Given the description of an element on the screen output the (x, y) to click on. 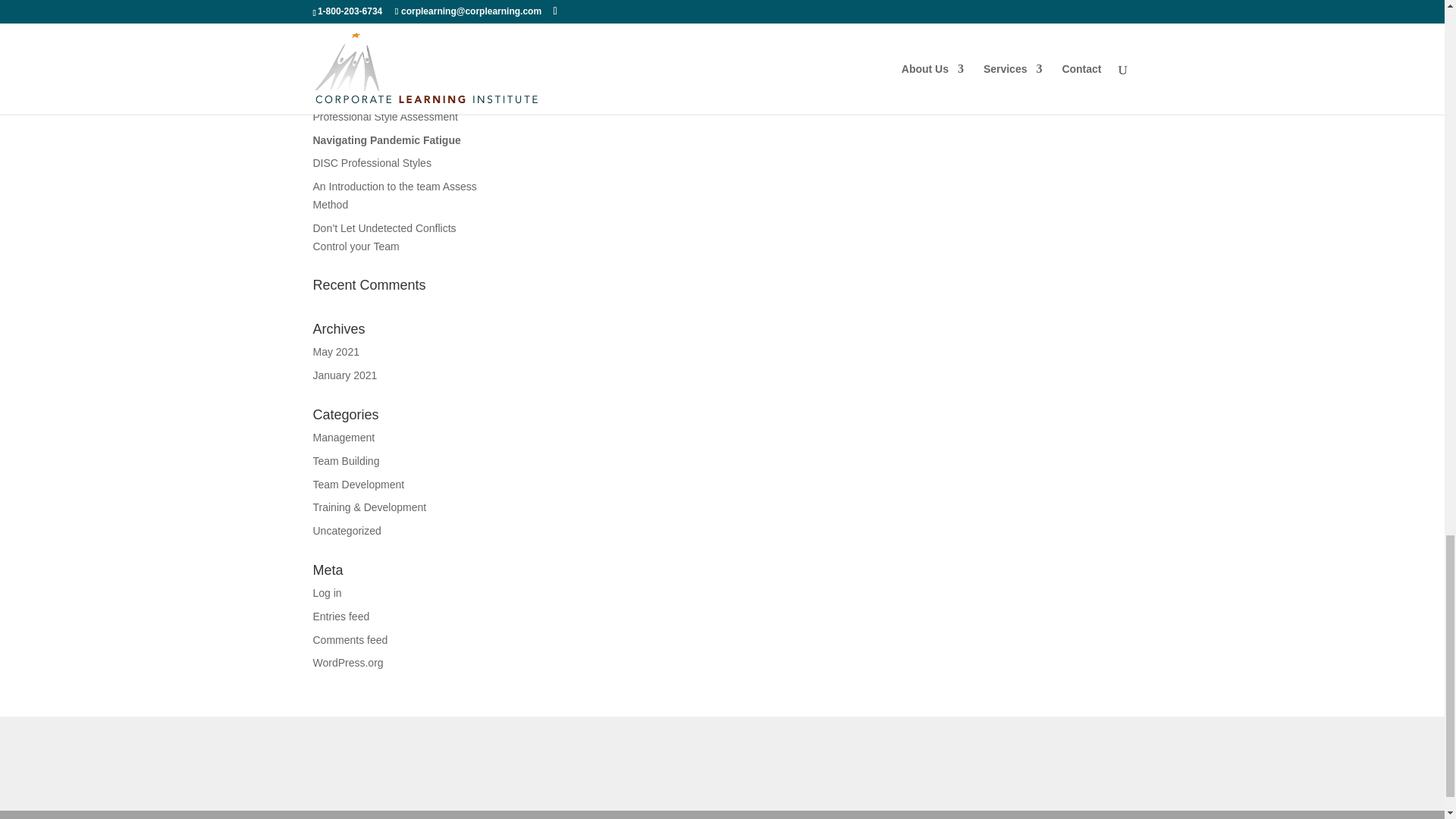
Navigating Pandemic Fatigue   (389, 140)
Search (458, 13)
Search (458, 13)
